Given the description of an element on the screen output the (x, y) to click on. 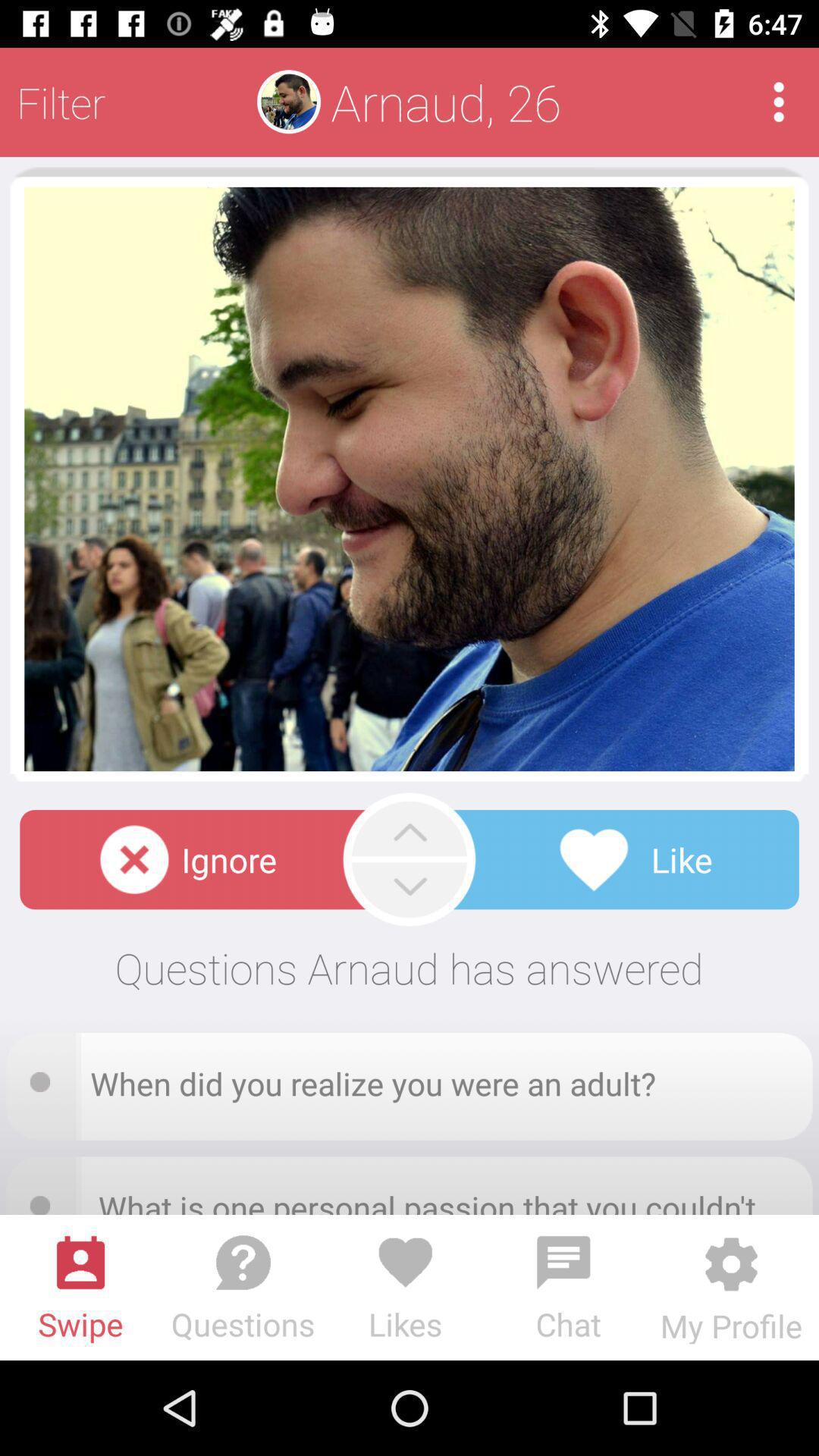
reorder answer (45, 1076)
